Given the description of an element on the screen output the (x, y) to click on. 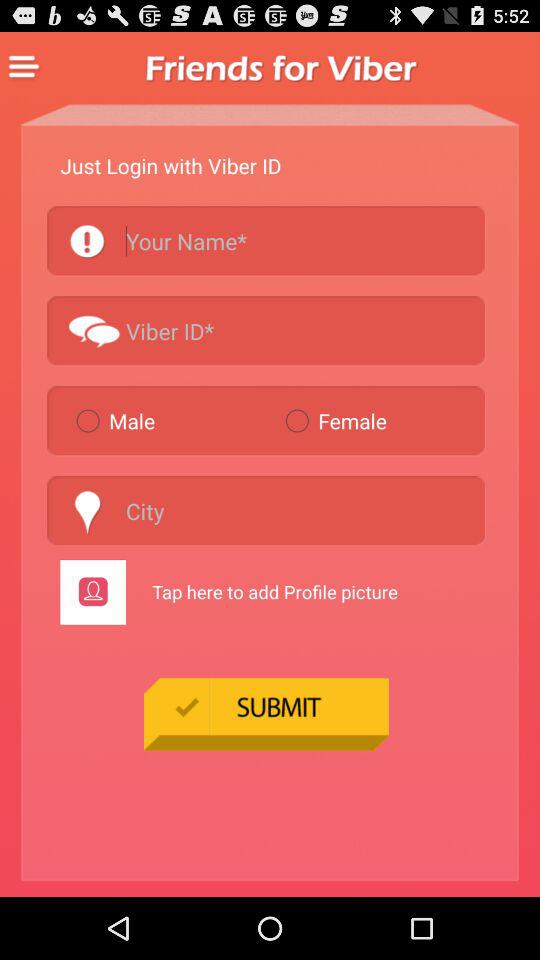
press the item at the bottom (266, 713)
